Given the description of an element on the screen output the (x, y) to click on. 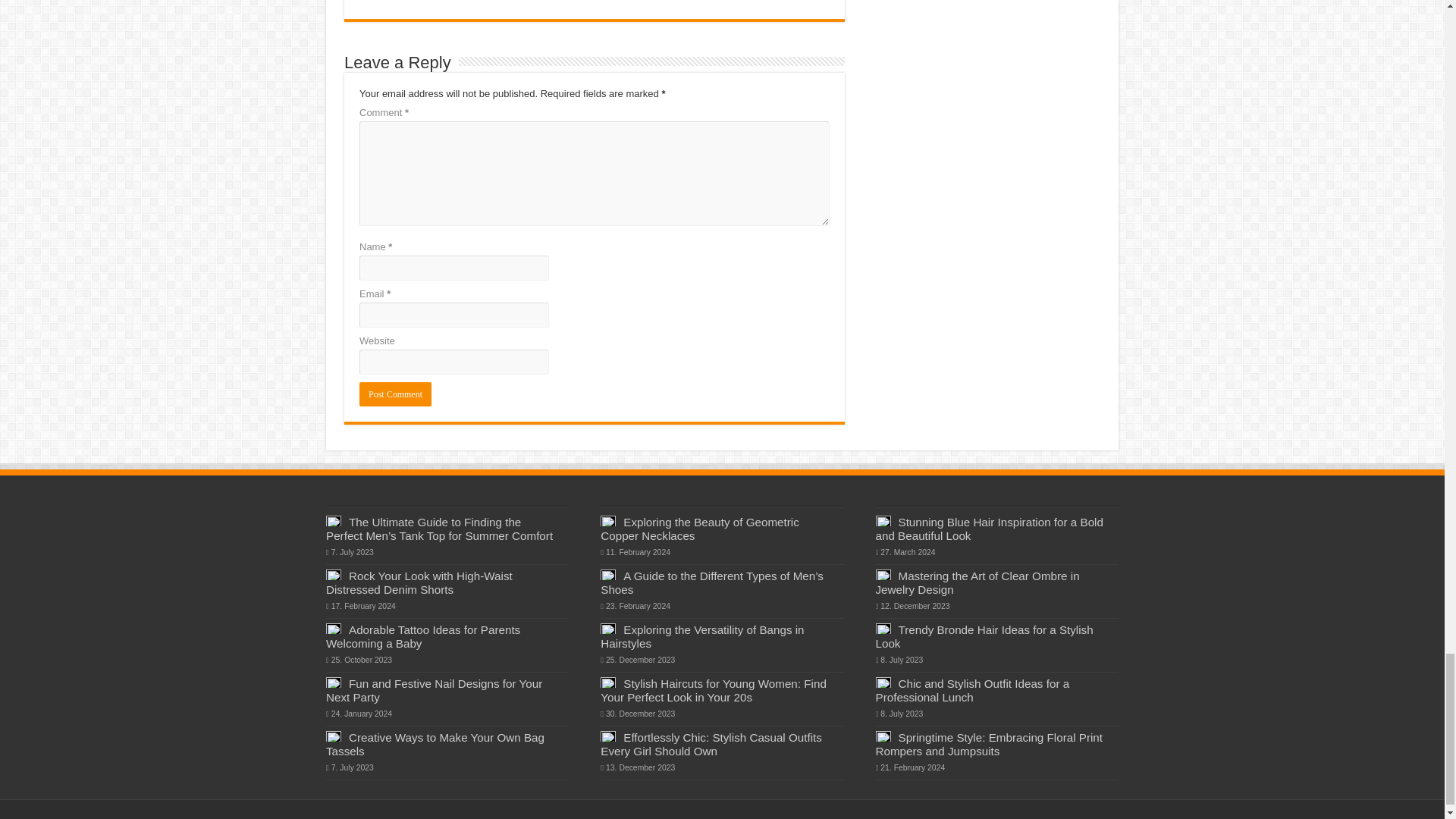
Creative Ways to Make Your Own Bag Tassels (435, 744)
Exploring the Beauty of Geometric Copper Necklaces (699, 528)
Adorable Tattoo Ideas for Parents Welcoming a Baby (422, 636)
Post Comment (394, 394)
Post Comment (394, 394)
Fun and Festive Nail Designs for Your Next Party (433, 690)
Rock Your Look with High-Waist Distressed Denim Shorts (419, 582)
